Given the description of an element on the screen output the (x, y) to click on. 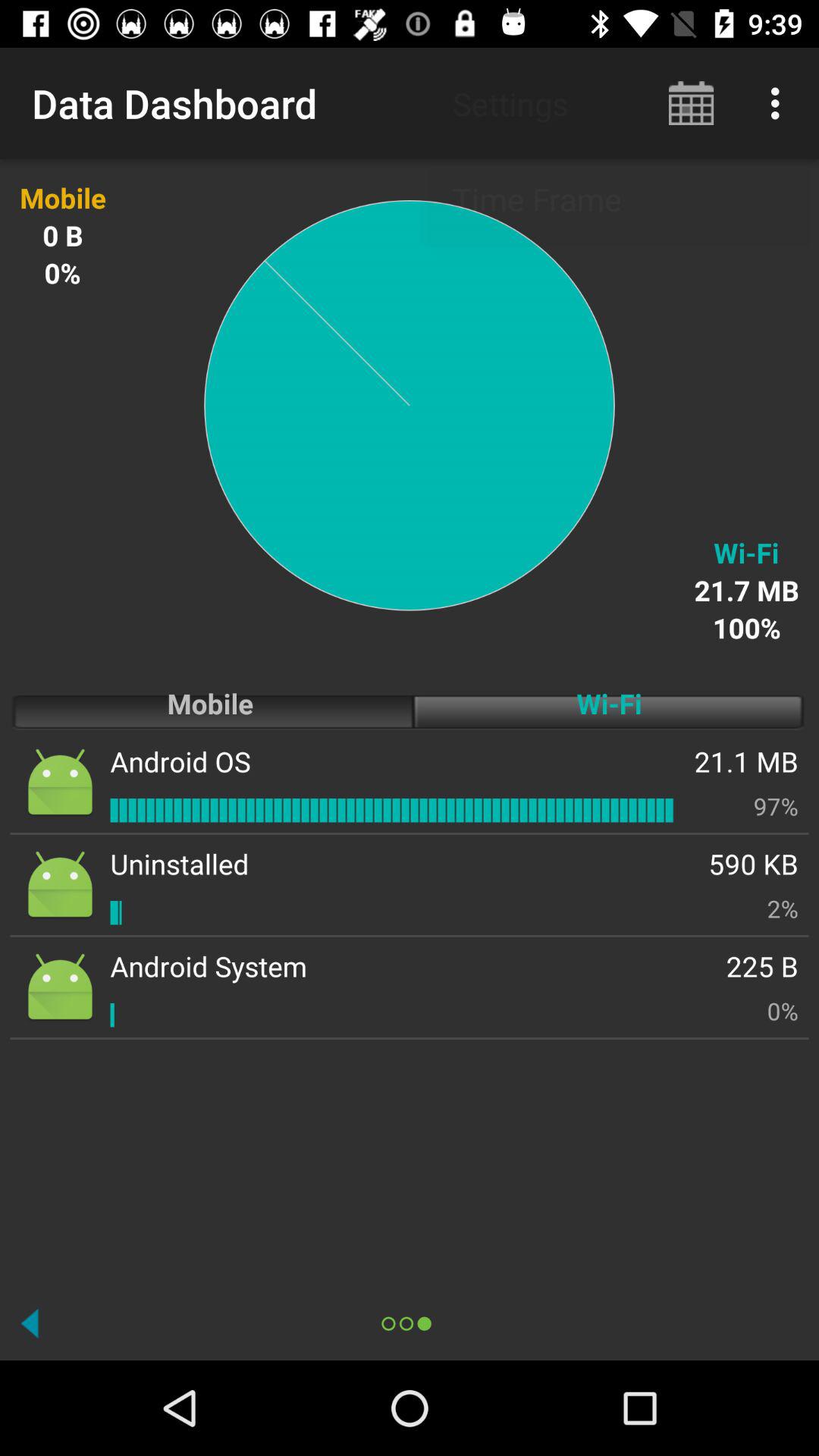
come back (29, 1323)
